Given the description of an element on the screen output the (x, y) to click on. 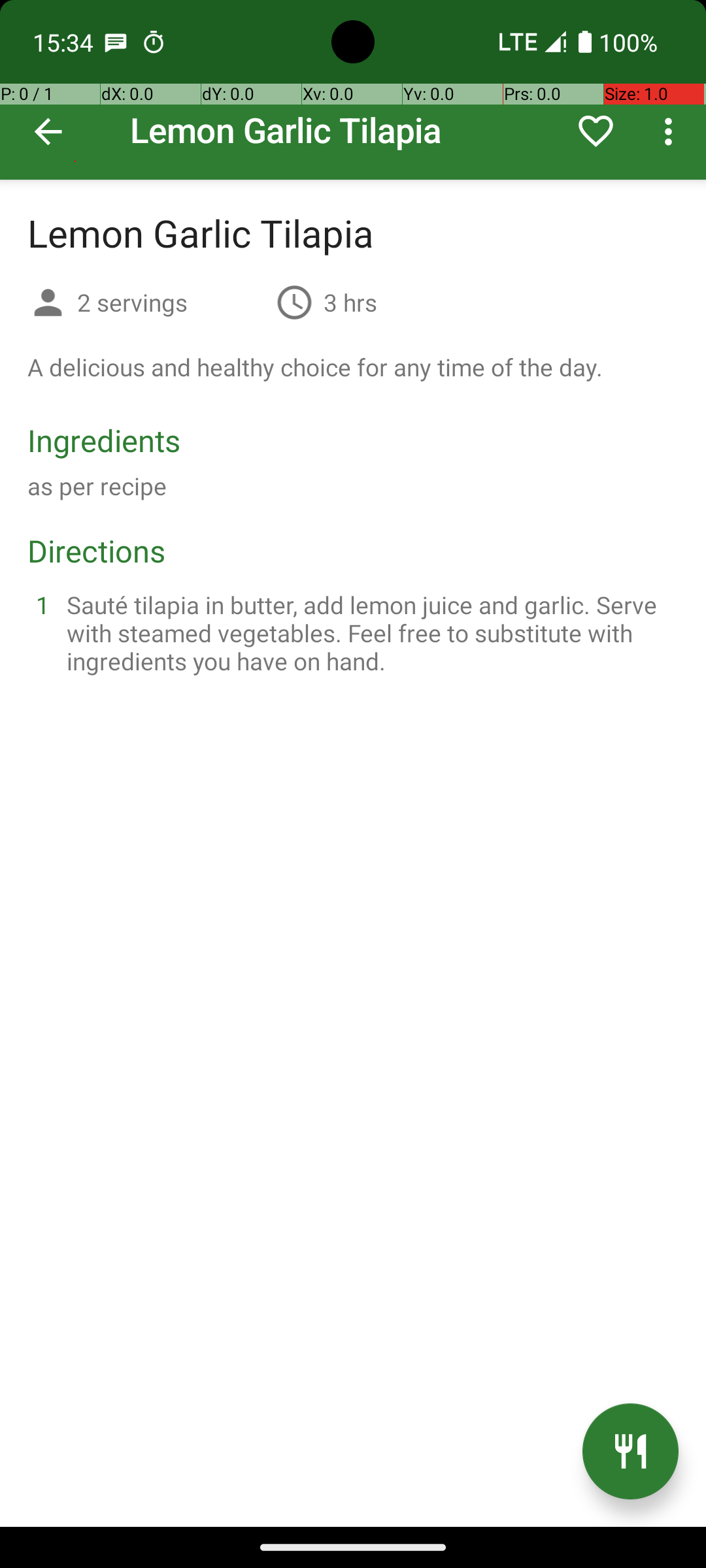
Sauté tilapia in butter, add lemon juice and garlic. Serve with steamed vegetables. Feel free to substitute with ingredients you have on hand. Element type: android.widget.TextView (368, 632)
